Given the description of an element on the screen output the (x, y) to click on. 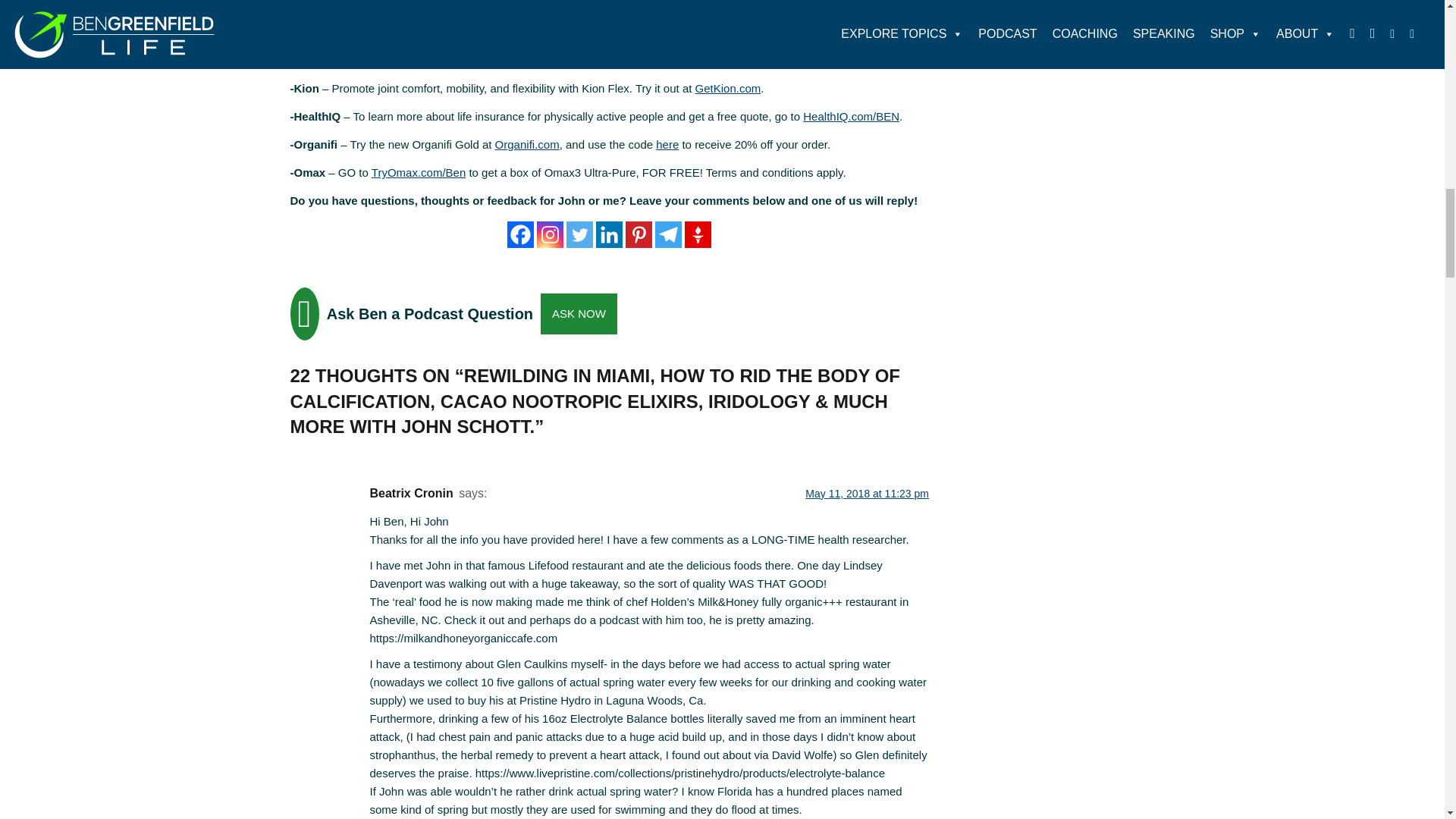
Gettr (697, 234)
Instagram (550, 234)
Telegram (668, 234)
Pinterest (639, 234)
Linkedin (609, 234)
Facebook (520, 234)
Twitter (579, 234)
